Given the description of an element on the screen output the (x, y) to click on. 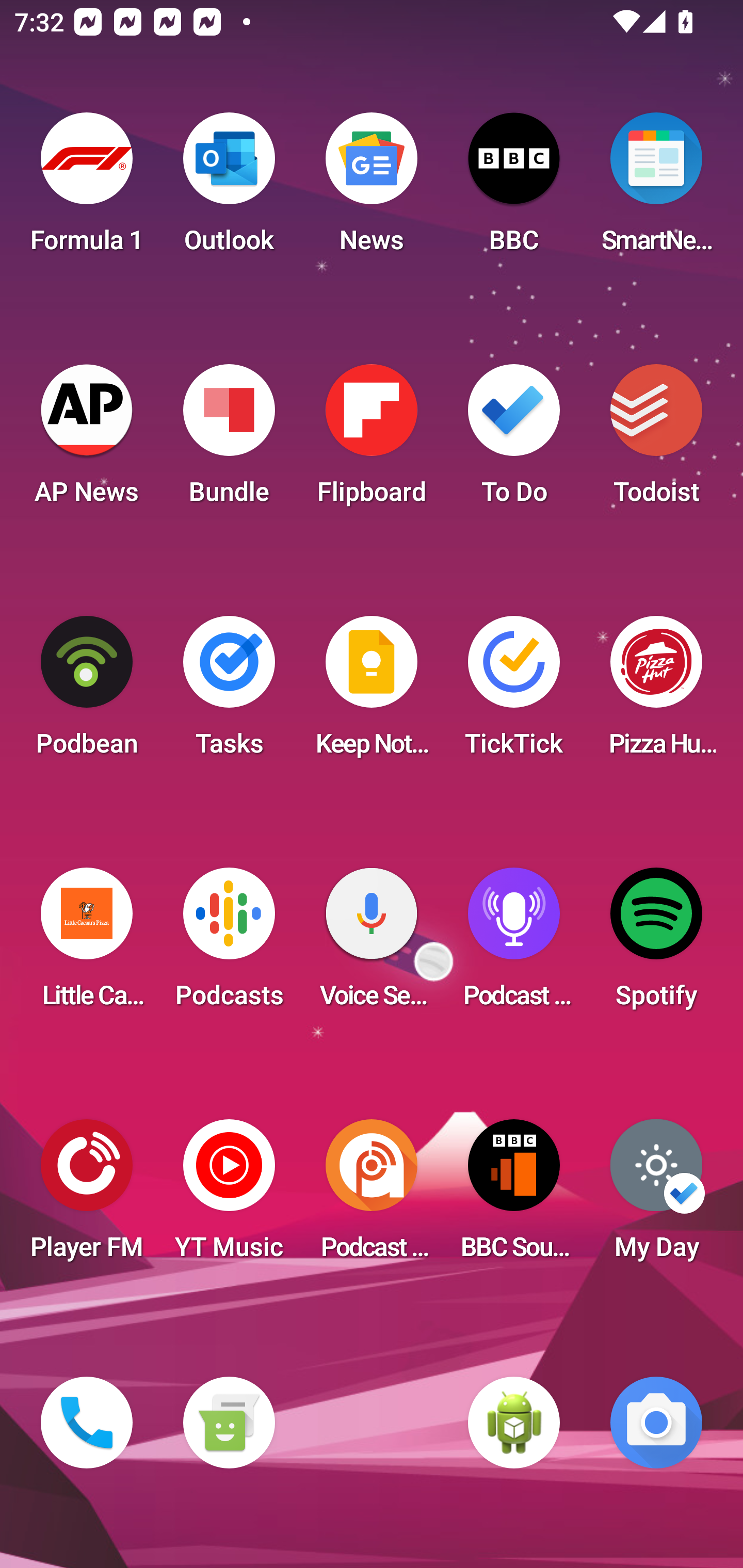
Formula 1 (86, 188)
Outlook (228, 188)
News (371, 188)
BBC (513, 188)
SmartNews (656, 188)
AP News (86, 440)
Bundle (228, 440)
Flipboard (371, 440)
To Do (513, 440)
Todoist (656, 440)
Podbean (86, 692)
Tasks (228, 692)
Keep Notes (371, 692)
TickTick (513, 692)
Pizza Hut HK & Macau (656, 692)
Little Caesars Pizza (86, 943)
Podcasts (228, 943)
Voice Search (371, 943)
Podcast Player (513, 943)
Spotify (656, 943)
Player FM (86, 1195)
YT Music (228, 1195)
Podcast Addict (371, 1195)
BBC Sounds (513, 1195)
My Day (656, 1195)
Phone (86, 1422)
Messaging (228, 1422)
WebView Browser Tester (513, 1422)
Camera (656, 1422)
